Given the description of an element on the screen output the (x, y) to click on. 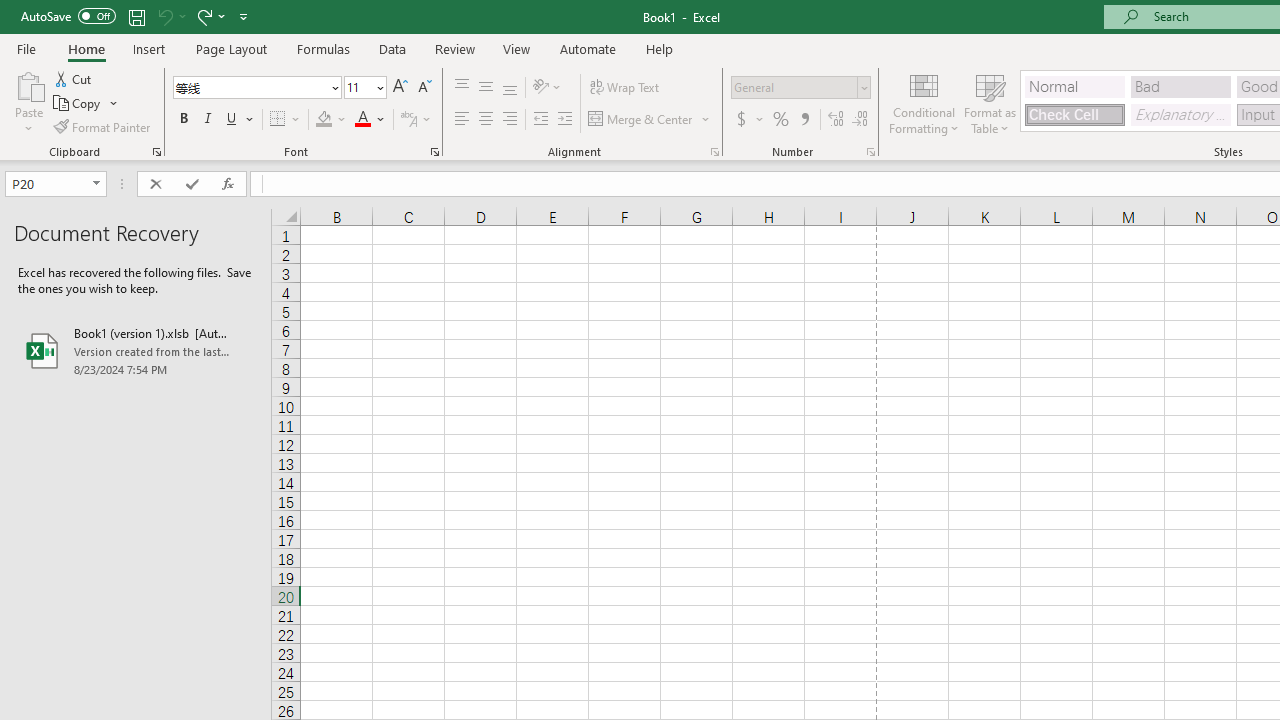
Center (485, 119)
Format Painter (103, 126)
Page Layout (230, 48)
Paste (28, 102)
Decrease Indent (540, 119)
Insert (149, 48)
Office Clipboard... (156, 151)
Font Color (370, 119)
Data (392, 48)
Number Format (794, 87)
Automate (588, 48)
Name Box (56, 183)
Undo (164, 15)
Align Left (461, 119)
Bottom Align (509, 87)
